Given the description of an element on the screen output the (x, y) to click on. 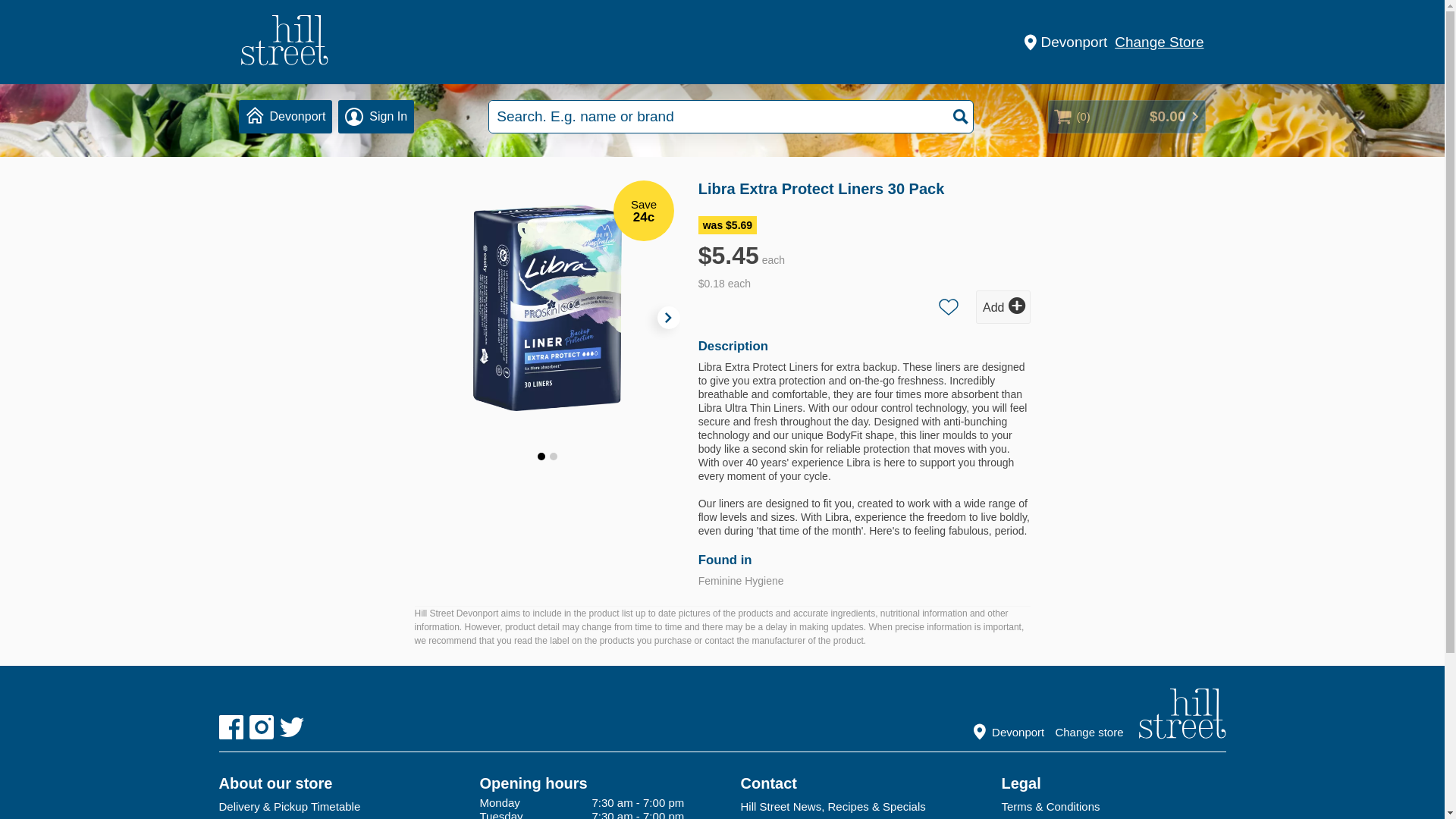
Change Store (1159, 41)
Facebook (230, 726)
Devonport Change store (1054, 729)
Sign In (375, 116)
Instagram hillstreetgrocer (260, 726)
Feminine Hygiene (741, 580)
Devonport (284, 116)
